Given the description of an element on the screen output the (x, y) to click on. 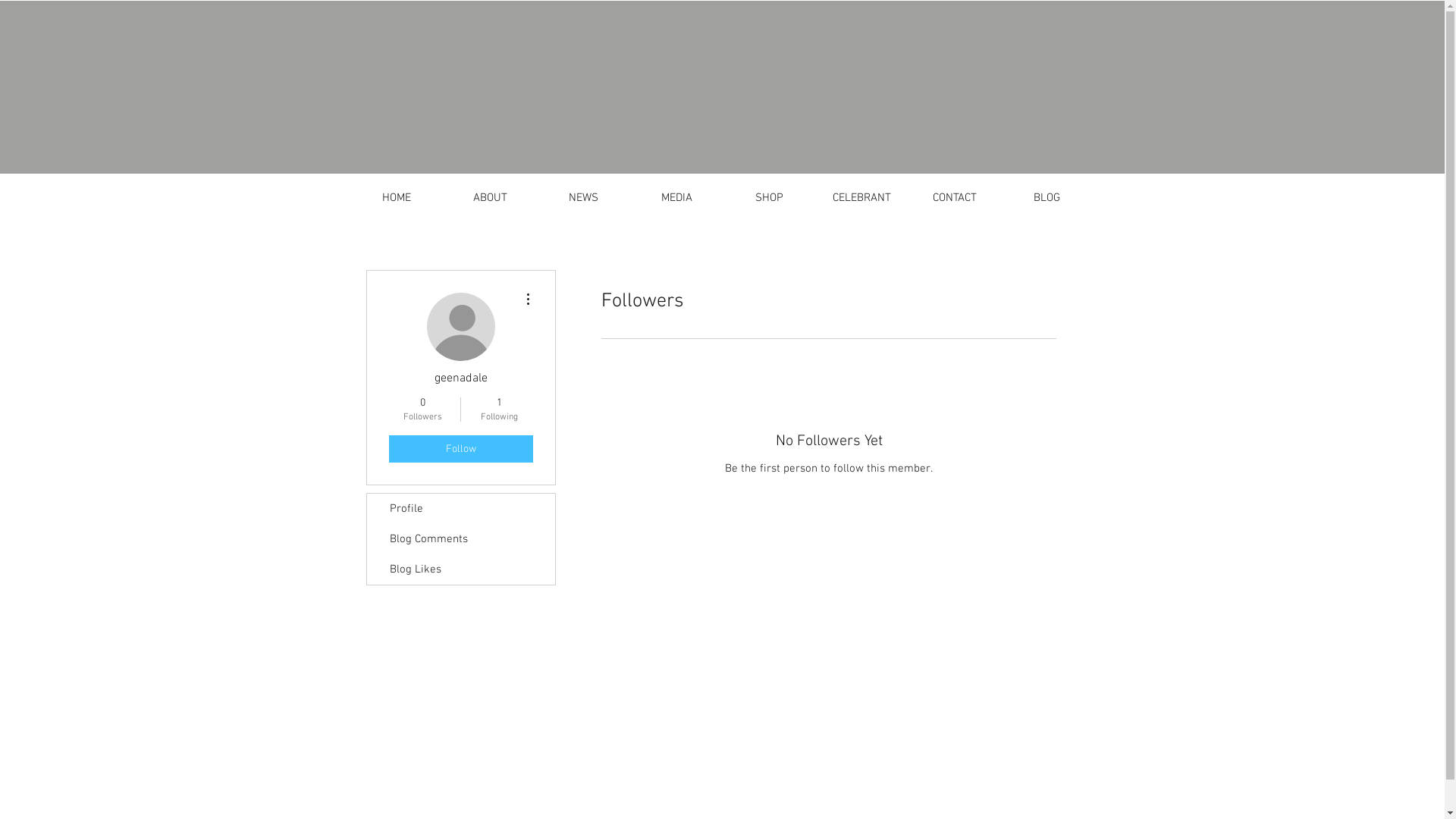
NEWS Element type: text (583, 198)
CELEBRANT Element type: text (861, 198)
Profile Element type: text (461, 508)
Blog Comments Element type: text (461, 539)
Followers Element type: hover (827, 520)
0
Followers Element type: text (421, 409)
BLOG Element type: text (1047, 198)
SHOP Element type: text (769, 198)
HOME Element type: text (396, 198)
Follow Element type: text (460, 448)
MEDIA Element type: text (675, 198)
1
Following Element type: text (499, 409)
Blog Likes Element type: text (461, 569)
ABOUT Element type: text (489, 198)
CONTACT Element type: text (954, 198)
